Given the description of an element on the screen output the (x, y) to click on. 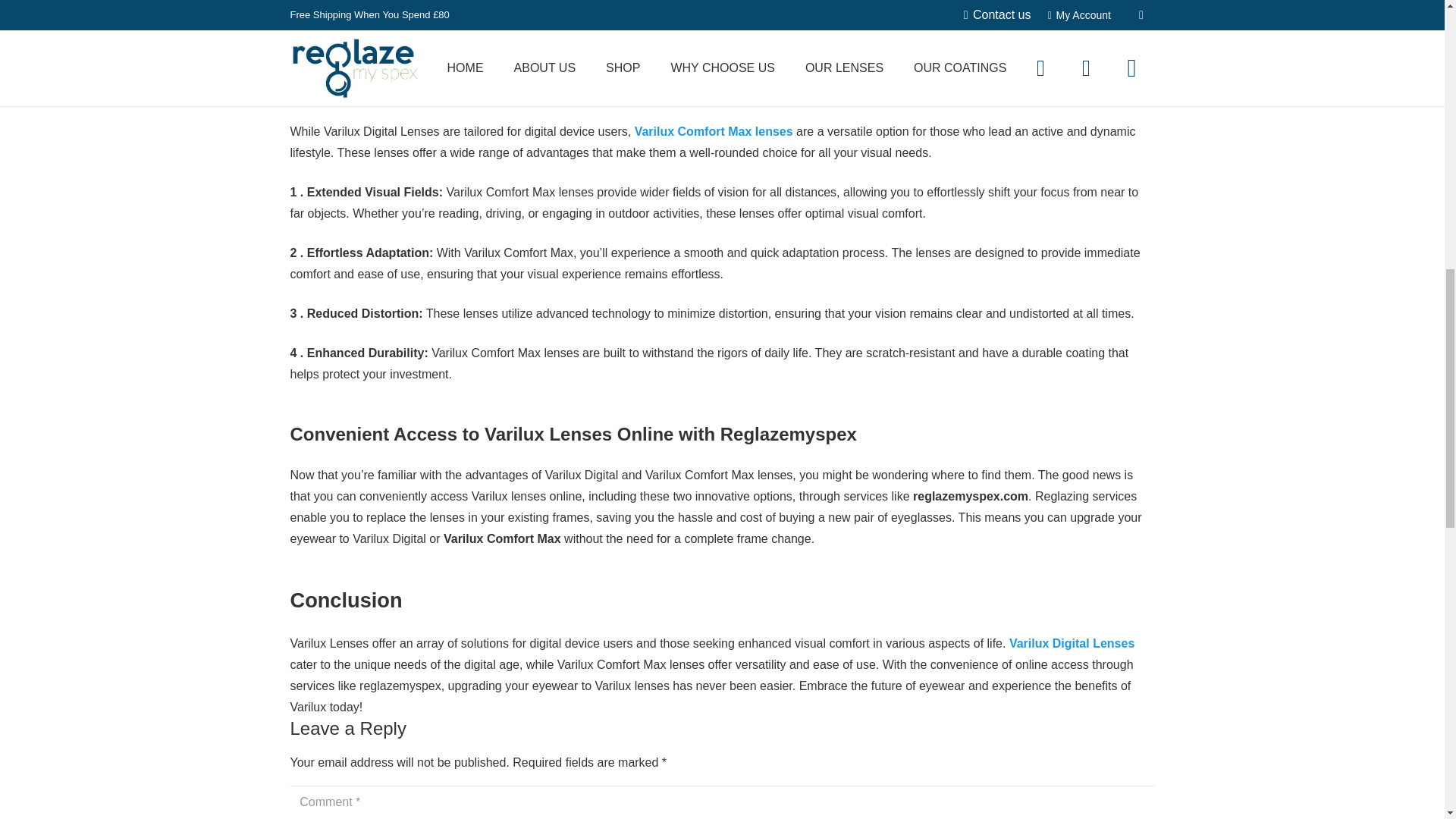
Varilux Comfort Max lenses (713, 131)
Varilux Digital Lenses (1071, 643)
Back to top (1413, 30)
anti-reflective coatings (702, 8)
